Given the description of an element on the screen output the (x, y) to click on. 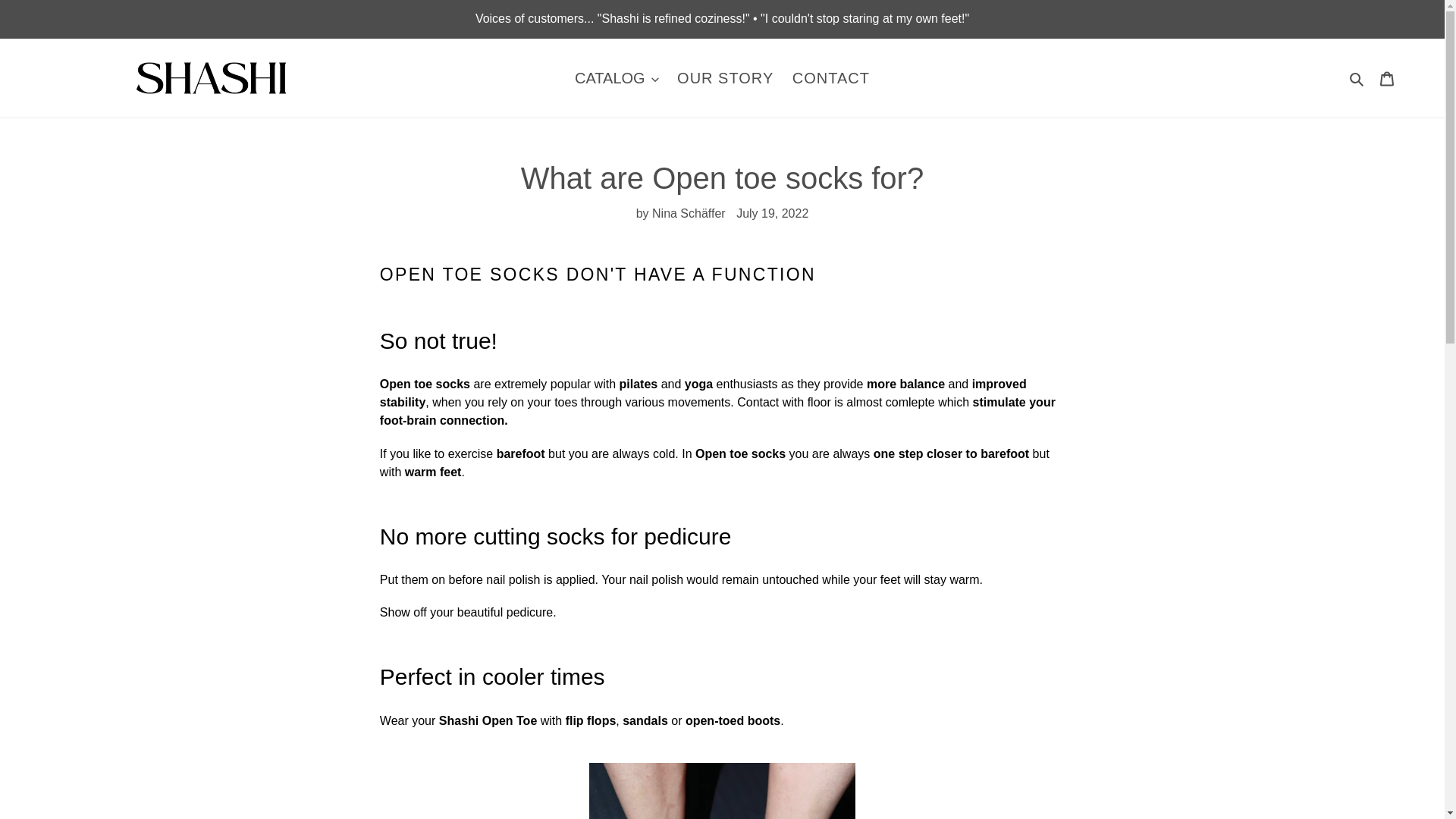
CONTACT (830, 77)
CATALOG (616, 77)
OUR STORY (724, 77)
Search (1357, 77)
Cart (1387, 78)
